Given the description of an element on the screen output the (x, y) to click on. 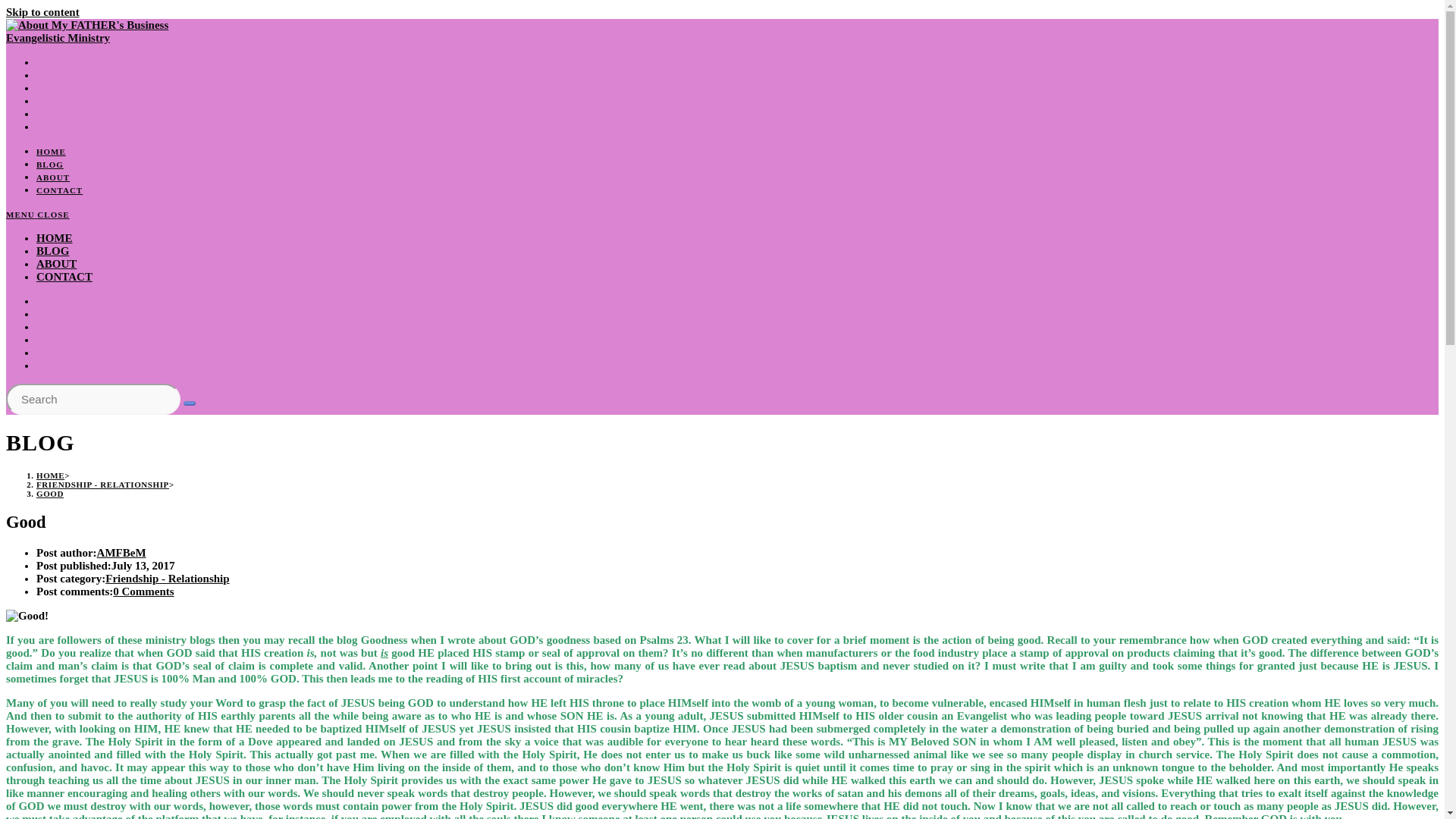
HOME (54, 237)
MENU CLOSE (37, 214)
AMFBeM (122, 552)
CONTACT (64, 276)
Posts by AMFBeM (122, 552)
HOME (50, 474)
BLOG (52, 250)
HOME (50, 151)
Friendship - Relationship (166, 578)
CONTACT (59, 189)
